Given the description of an element on the screen output the (x, y) to click on. 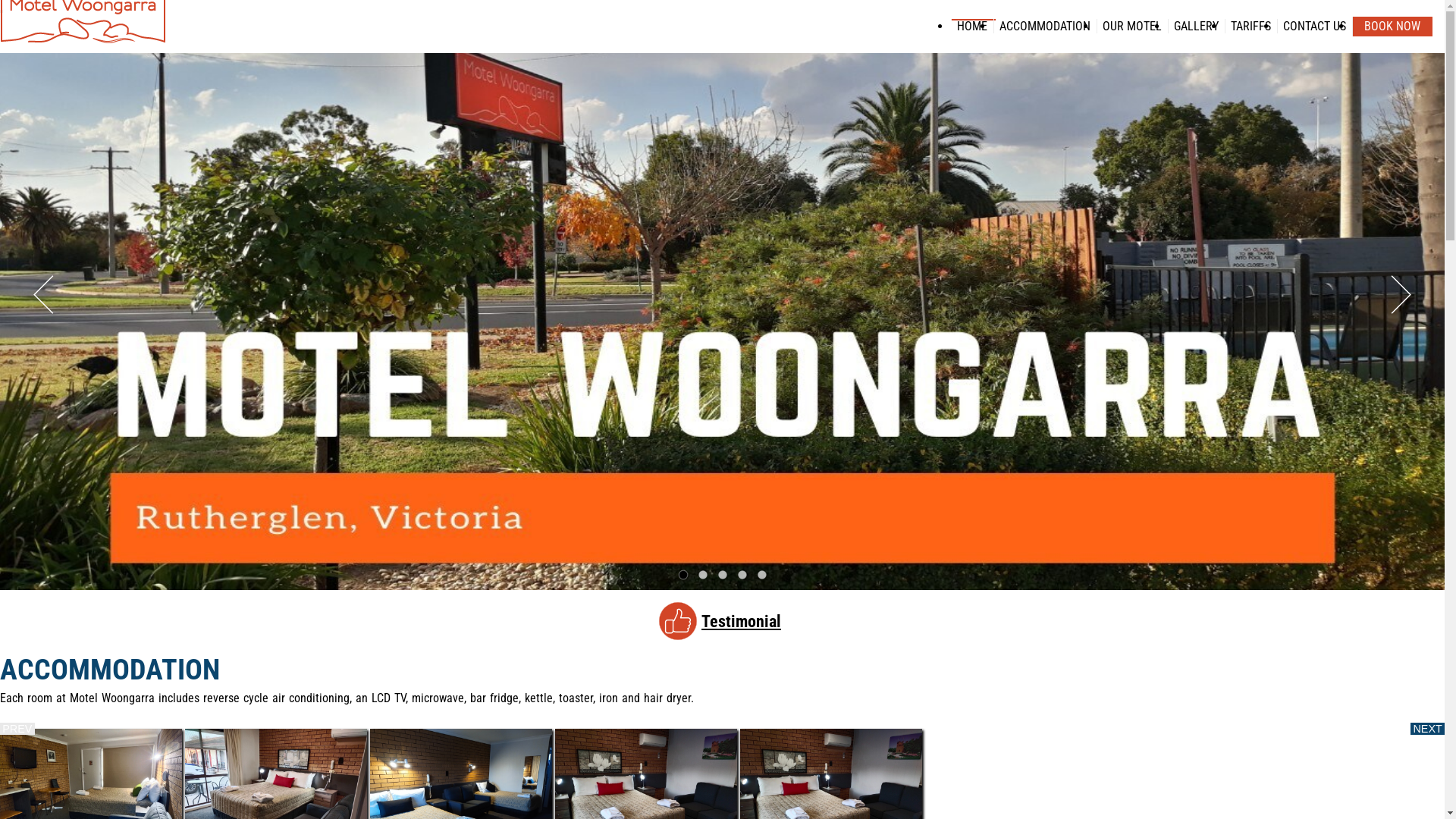
PREV Element type: text (17, 728)
CONTACT US Element type: text (1314, 25)
ACCOMMODATION Element type: text (1044, 25)
NEXT Element type: text (1427, 728)
GALLERY Element type: text (1195, 25)
BOOK NOW Element type: text (1392, 25)
Testimonial Element type: text (741, 620)
TARIFFS Element type: text (1250, 25)
OUR MOTEL Element type: text (1131, 25)
HOME Element type: text (971, 25)
